Given the description of an element on the screen output the (x, y) to click on. 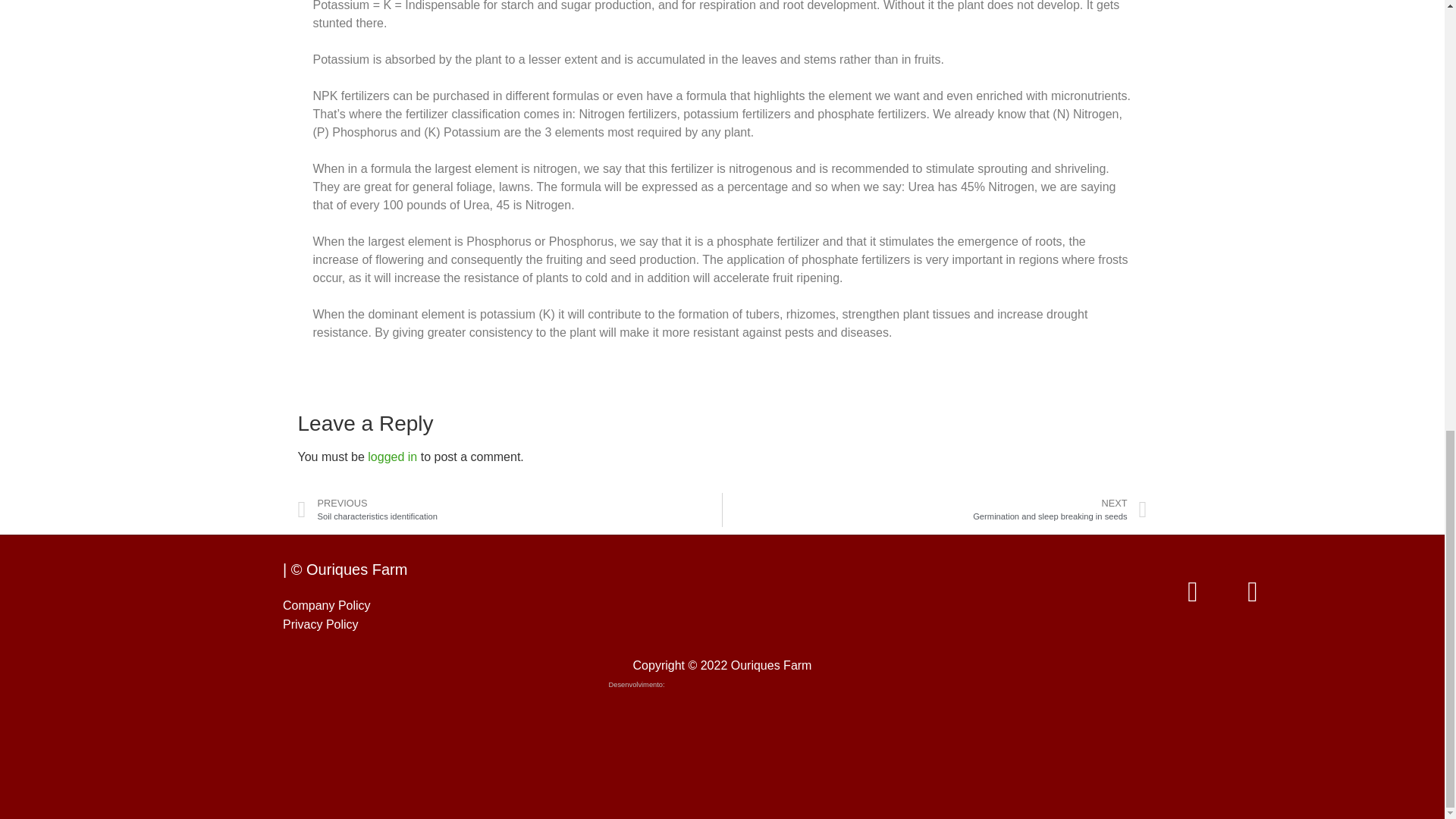
cc-badges-quinta-dos-ouriques (927, 592)
Company Policy (326, 604)
Privacy Policy (934, 510)
logged in (509, 510)
